Given the description of an element on the screen output the (x, y) to click on. 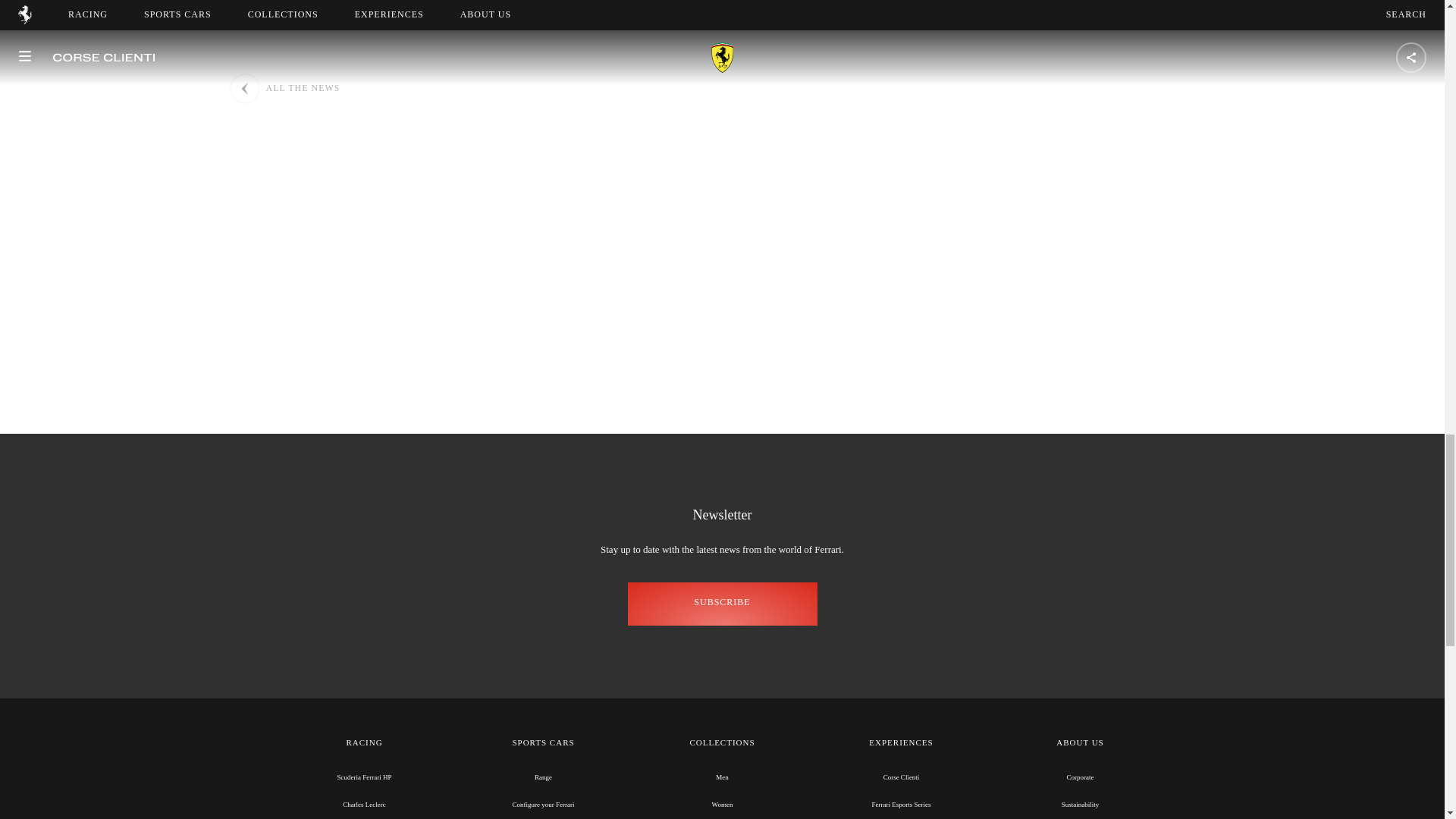
SUBSCRIBE (721, 603)
Configure your Ferrari (543, 804)
Range (542, 777)
Charles Leclerc (363, 804)
Scuderia Ferrari HP (363, 777)
